Given the description of an element on the screen output the (x, y) to click on. 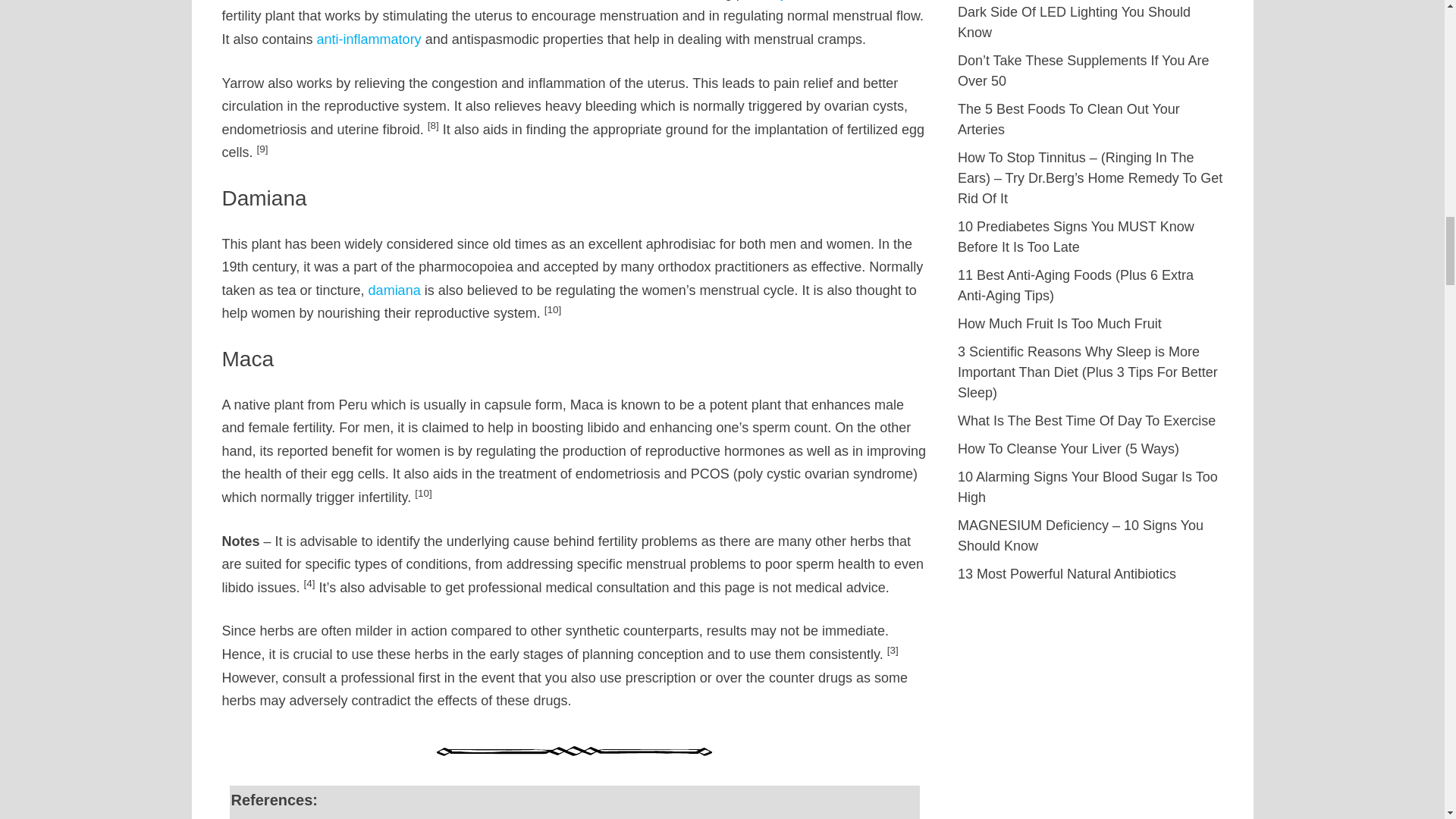
yarrow (800, 0)
damiana (394, 290)
anti-inflammatory (369, 38)
